Given the description of an element on the screen output the (x, y) to click on. 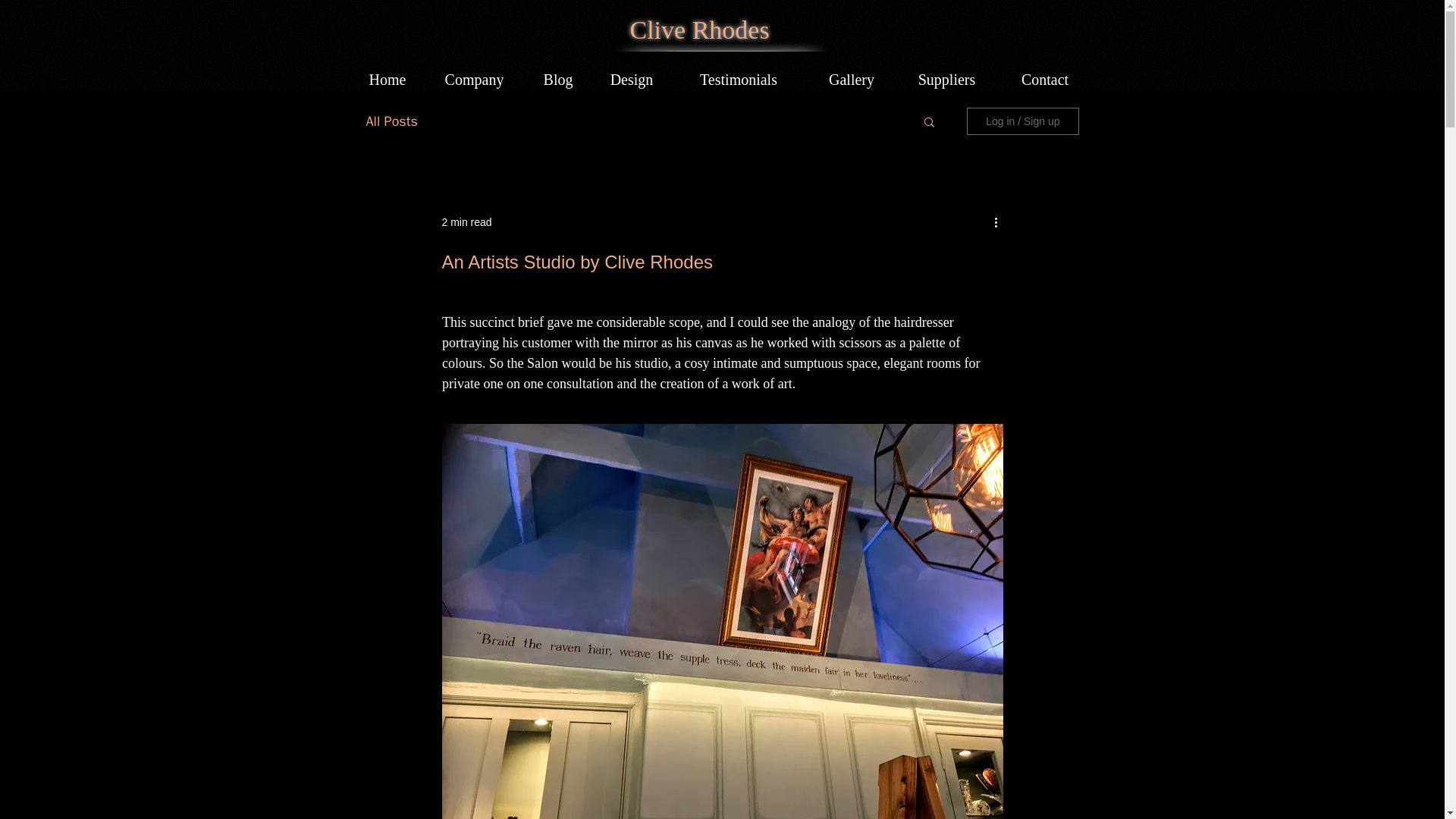
Design (631, 79)
Blog (557, 79)
Testimonials (738, 79)
Company (473, 79)
Suppliers (946, 79)
Home (387, 79)
Contact (1044, 79)
All Posts (390, 121)
Gallery (851, 79)
2 min read (466, 221)
